Given the description of an element on the screen output the (x, y) to click on. 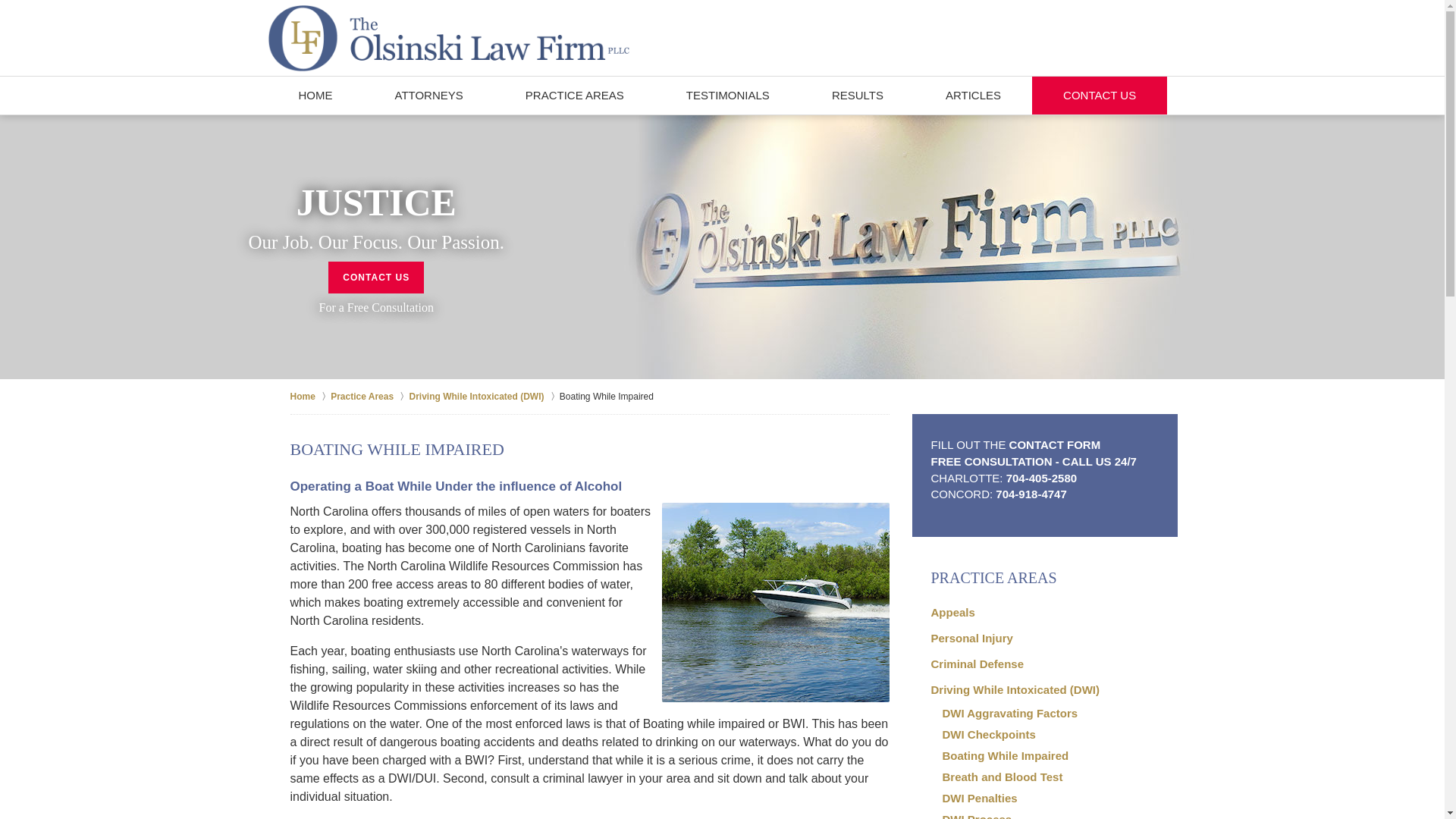
Breath and Blood Test (1043, 776)
DWI Penalties (1043, 798)
ARTICLES (973, 95)
CONTACT FORM (1054, 444)
RESULTS (857, 95)
ATTORNEYS (429, 95)
TESTIMONIALS (727, 95)
HOME (314, 95)
Boating While Impaired (1043, 755)
PRACTICE AREAS (1044, 577)
